Given the description of an element on the screen output the (x, y) to click on. 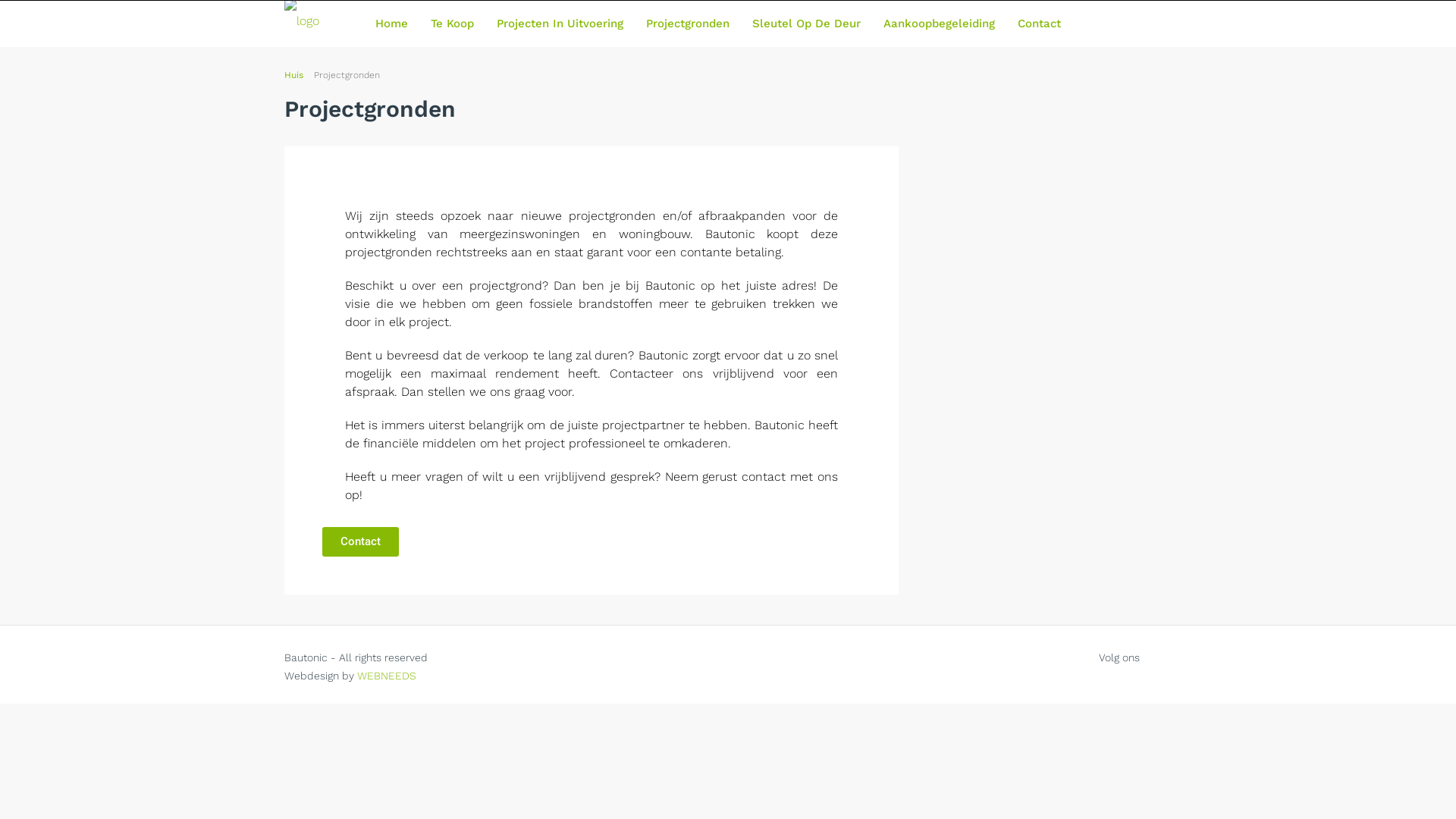
WEBNEEDS Element type: text (386, 675)
Aankoopbegeleiding Element type: text (939, 23)
Contact Element type: text (1038, 23)
Te Koop Element type: text (451, 23)
Projectgronden Element type: text (686, 23)
Contact Element type: text (360, 541)
Huis Element type: text (293, 74)
Sleutel Op De Deur Element type: text (805, 23)
Home Element type: text (391, 23)
Projecten In Uitvoering Element type: text (559, 23)
